Given the description of an element on the screen output the (x, y) to click on. 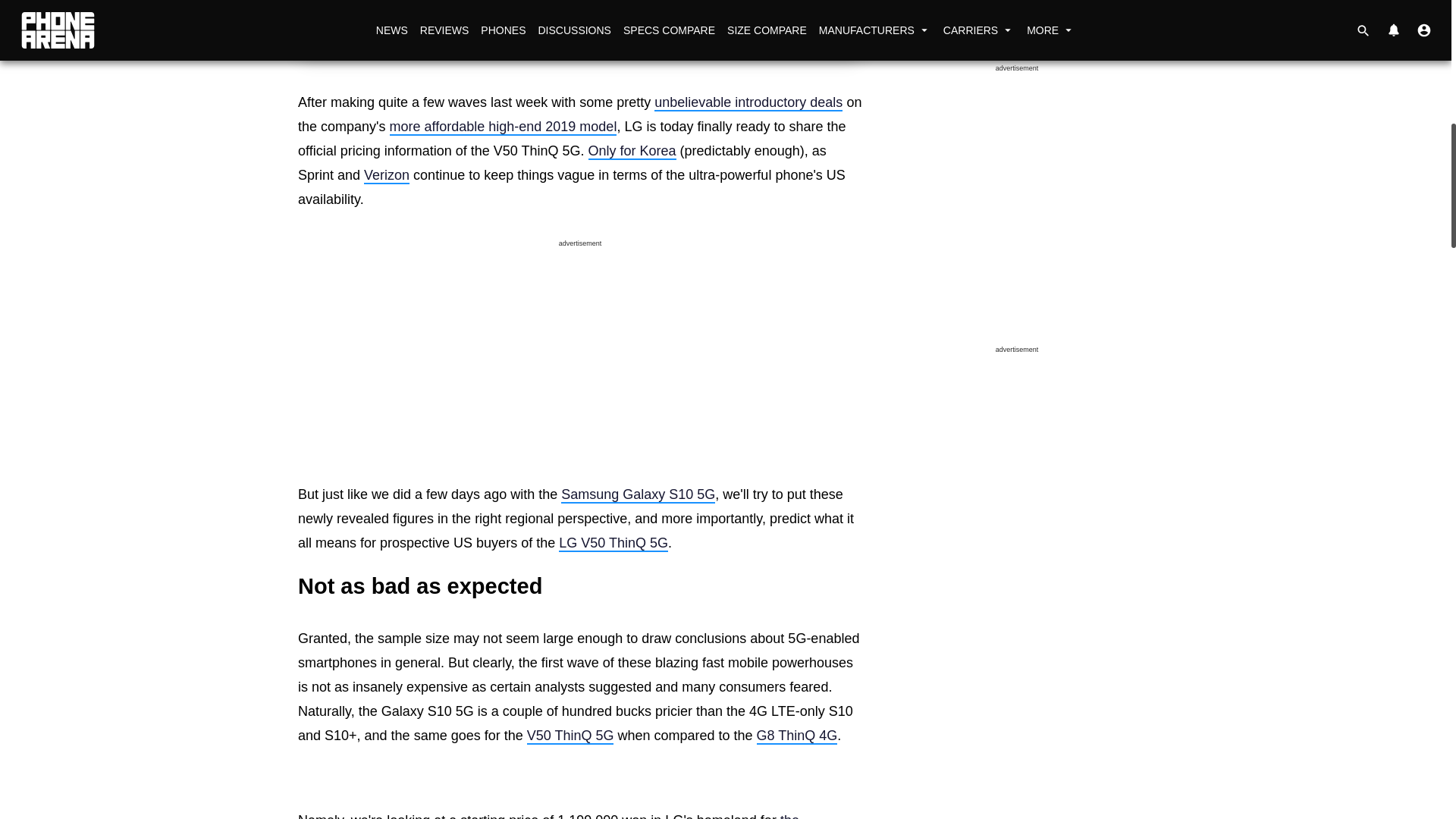
LG V50 ThinQ (570, 736)
The LG V50 ThinQ 5G is coming to Verizon this summer (386, 175)
Hands-on with the LG V50 ThinQ and its... dual display case (548, 816)
LG G8 ThinQ (797, 736)
